Given the description of an element on the screen output the (x, y) to click on. 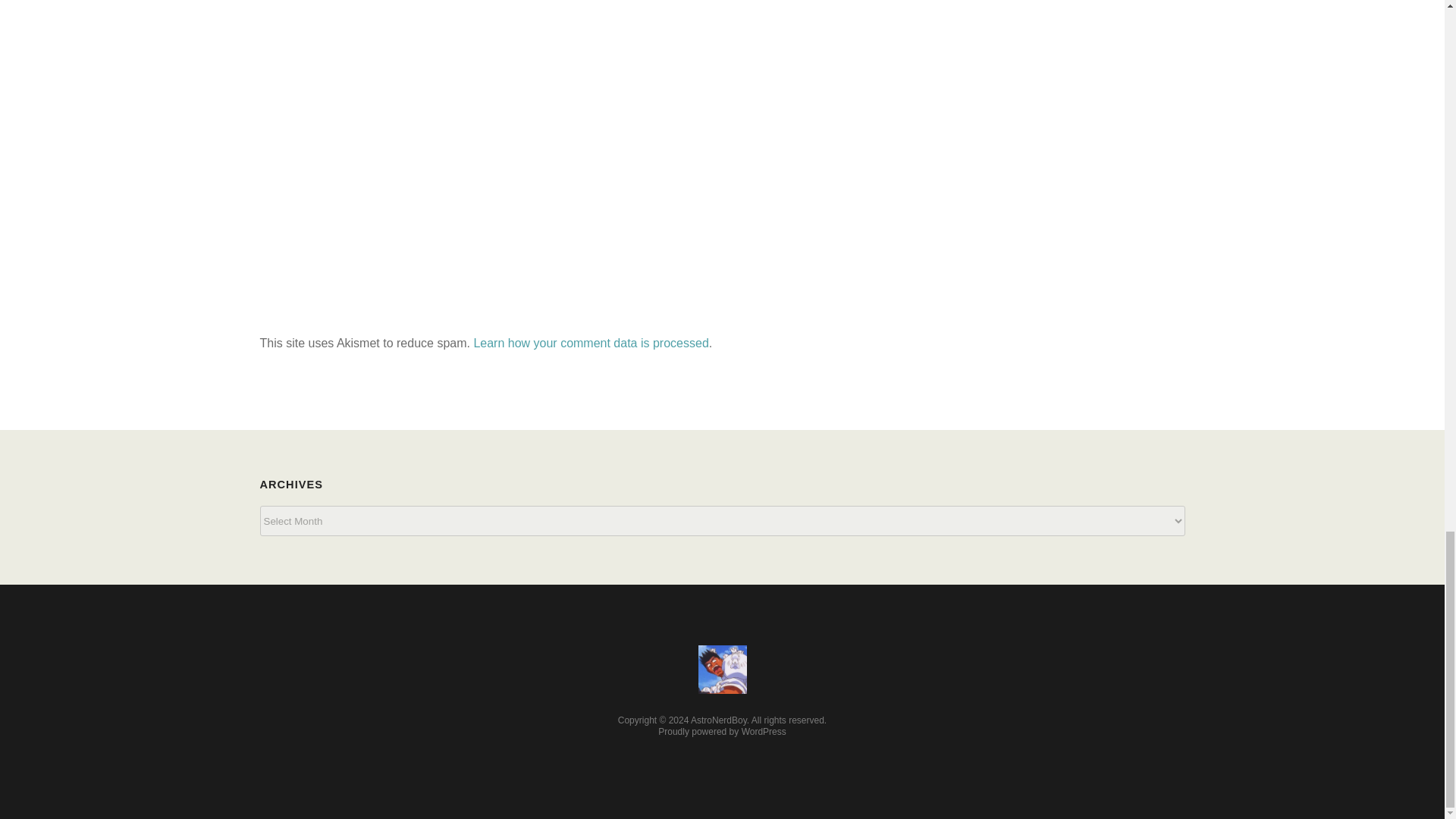
Learn how your comment data is processed (590, 342)
Proudly powered by WordPress (722, 731)
